Given the description of an element on the screen output the (x, y) to click on. 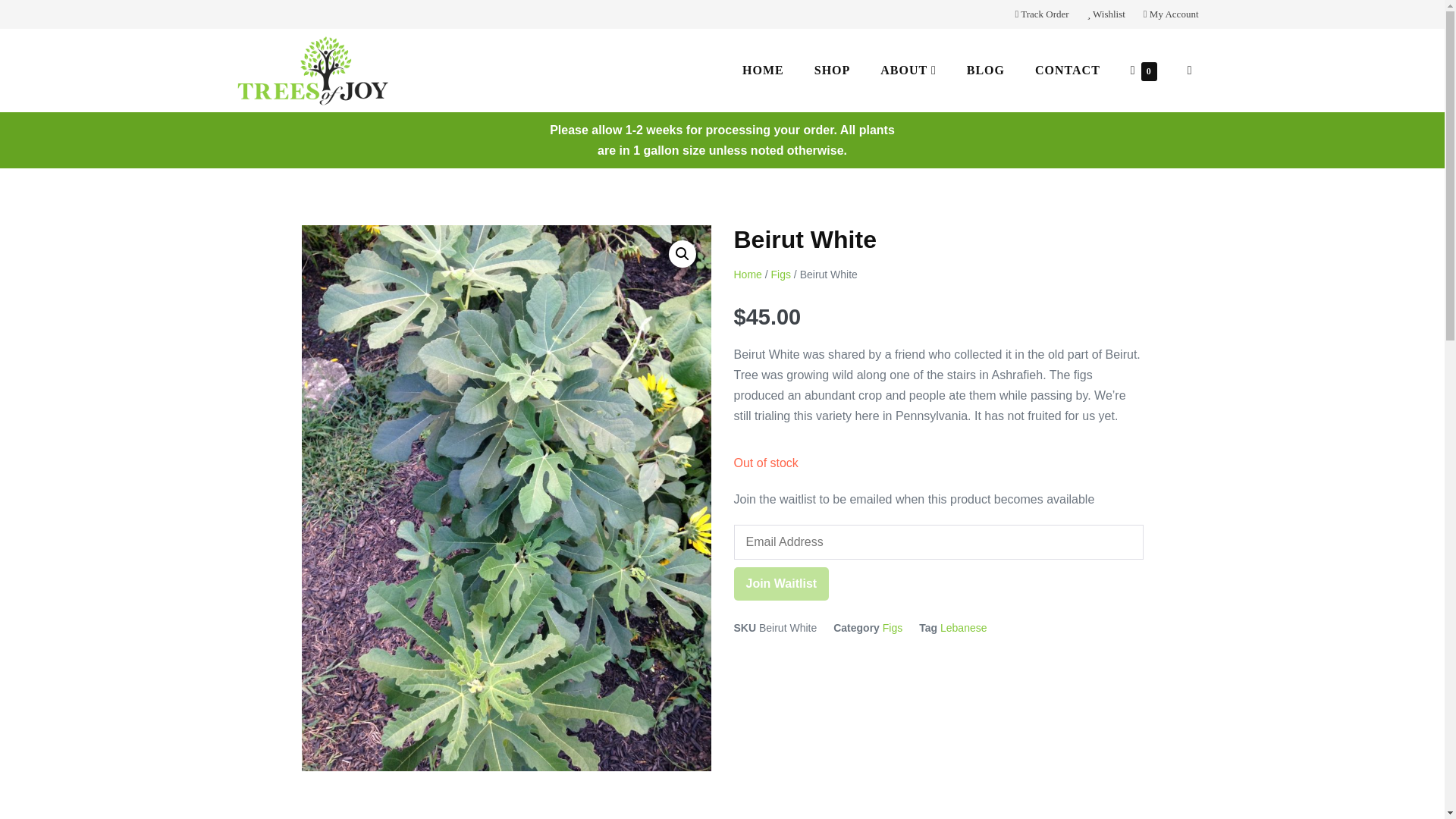
ABOUT (907, 69)
Lebanese (963, 627)
Home (747, 274)
HOME (762, 69)
Join Waitlist (781, 583)
Wishlist (1106, 13)
Figs (780, 274)
Figs (892, 627)
Track Order (1041, 13)
0 (1143, 70)
